Given the description of an element on the screen output the (x, y) to click on. 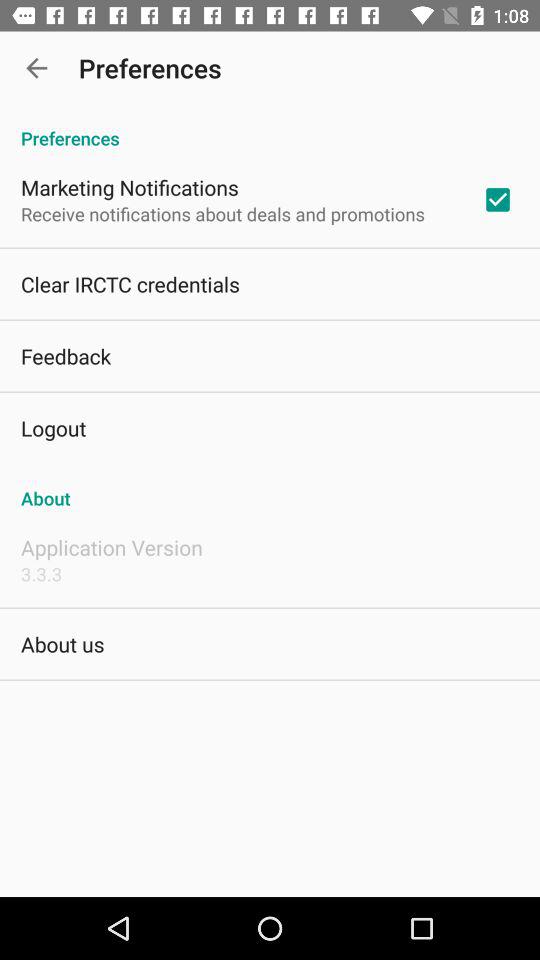
tap icon below 3.3.3 item (62, 644)
